Given the description of an element on the screen output the (x, y) to click on. 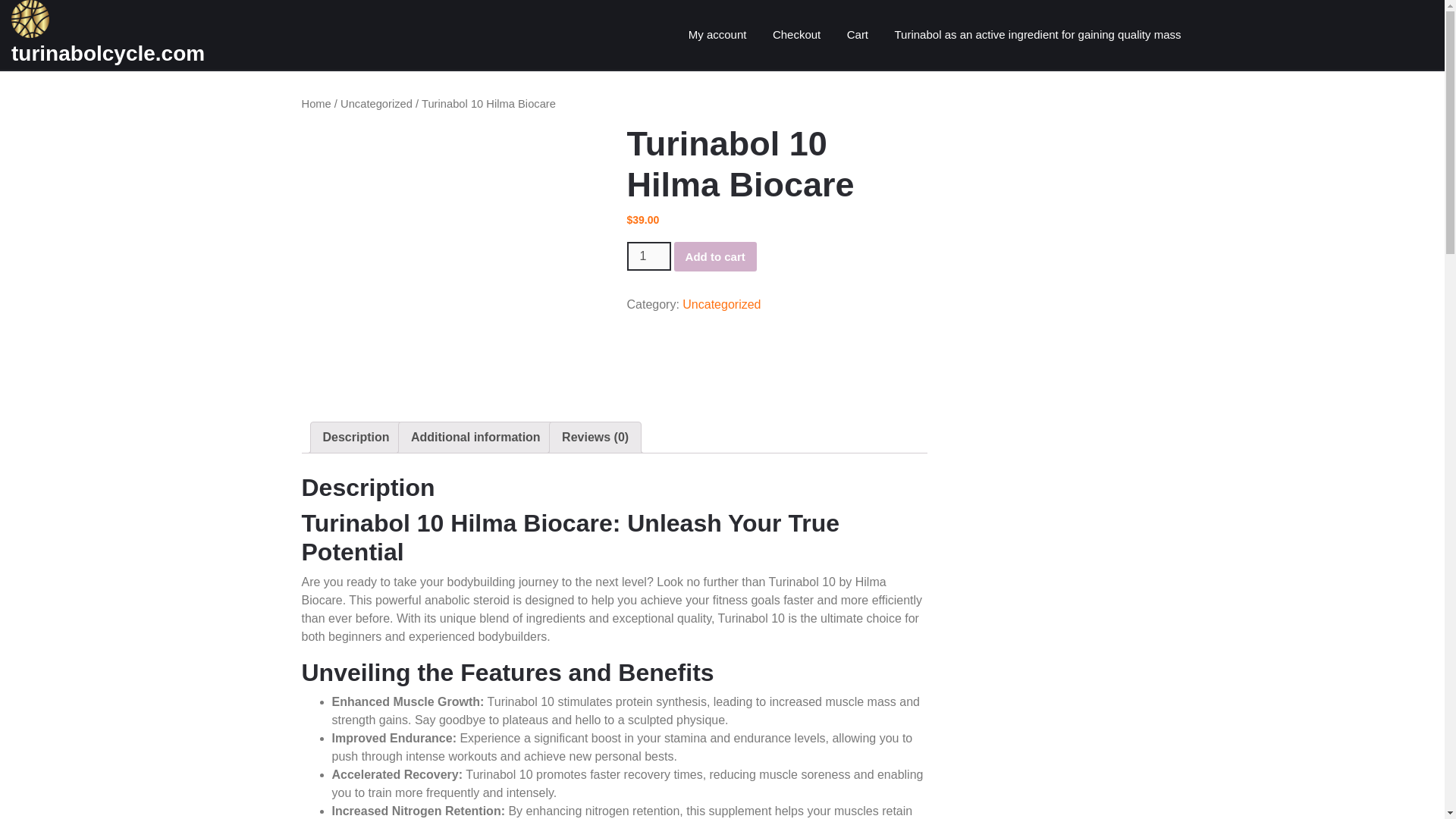
Uncategorized (376, 103)
Checkout (796, 35)
Cart (857, 35)
Home (316, 103)
Turinabol as an active ingredient for gaining quality mass (1037, 35)
turinabolcycle.com (108, 53)
Uncategorized (721, 304)
1 (647, 256)
My account (717, 35)
Additional information (475, 437)
Qty (647, 256)
Description (356, 437)
Add to cart (715, 256)
